Given the description of an element on the screen output the (x, y) to click on. 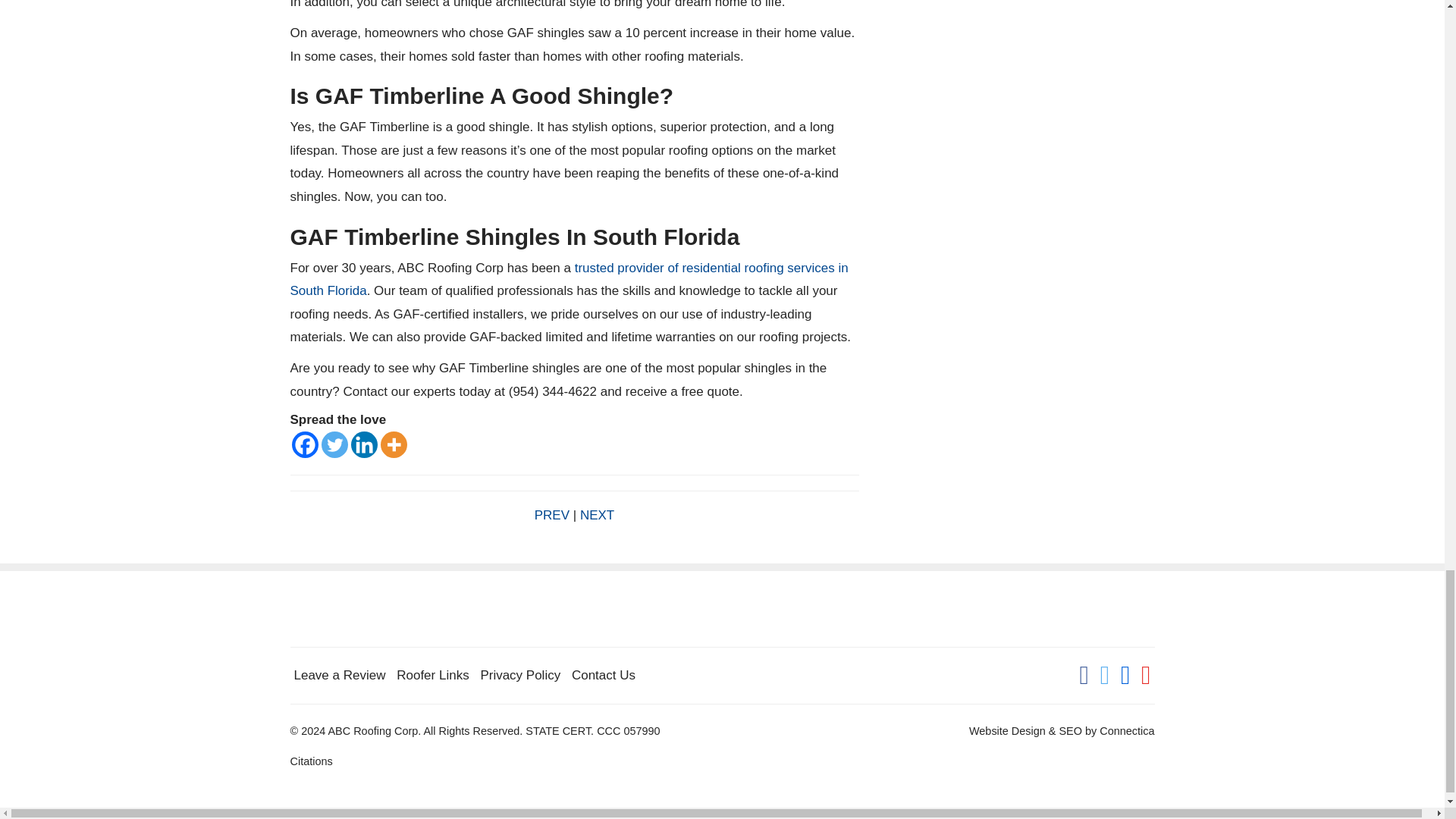
Roofer Links (432, 675)
Contact Us (603, 675)
Twitter (334, 444)
Leave a Review (339, 675)
Facebook (304, 444)
More (393, 444)
Privacy Policy (520, 675)
Linkedin (363, 444)
